Given the description of an element on the screen output the (x, y) to click on. 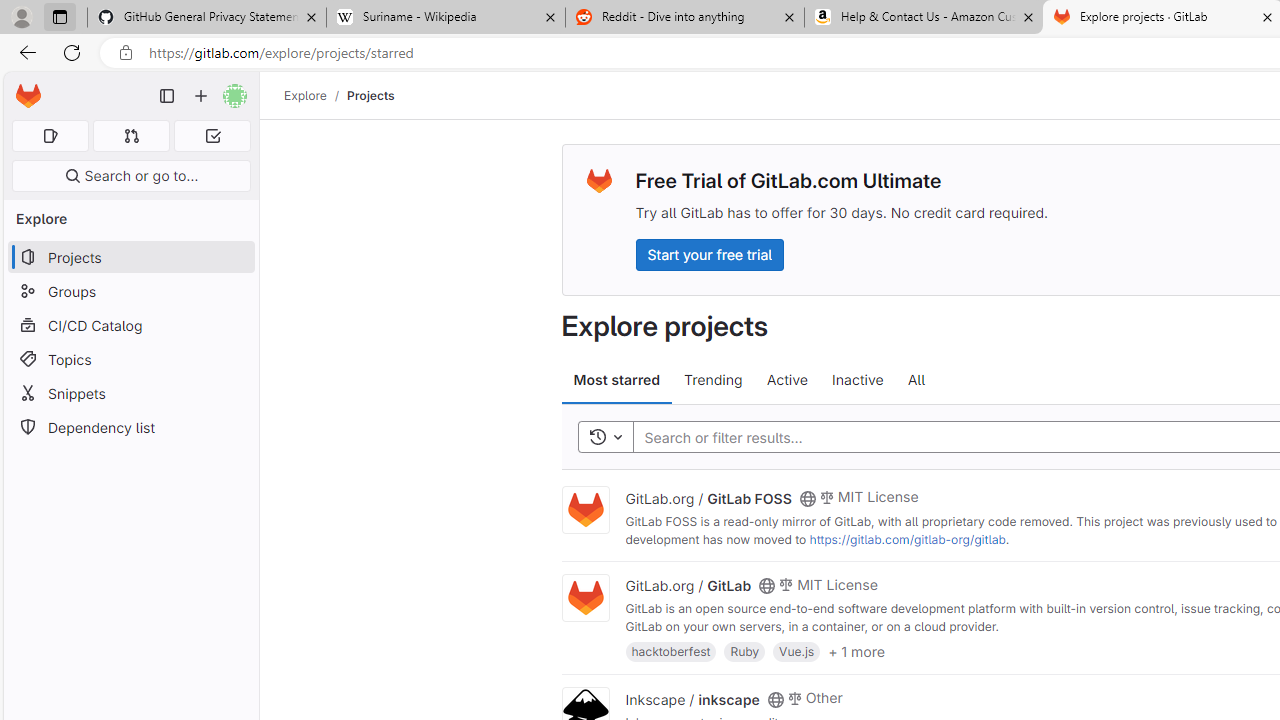
CI/CD Catalog (130, 325)
Dependency list (130, 427)
Active (786, 379)
Create new... (201, 96)
Vue.js (797, 650)
+ 1 more (856, 650)
GitHub General Privacy Statement - GitHub Docs (207, 17)
GitLab.org / GitLab FOSS (708, 497)
Snippets (130, 393)
Class: s16 (774, 699)
Inactive (858, 379)
Start your free trial (709, 254)
Explore (305, 95)
Groups (130, 291)
